Given the description of an element on the screen output the (x, y) to click on. 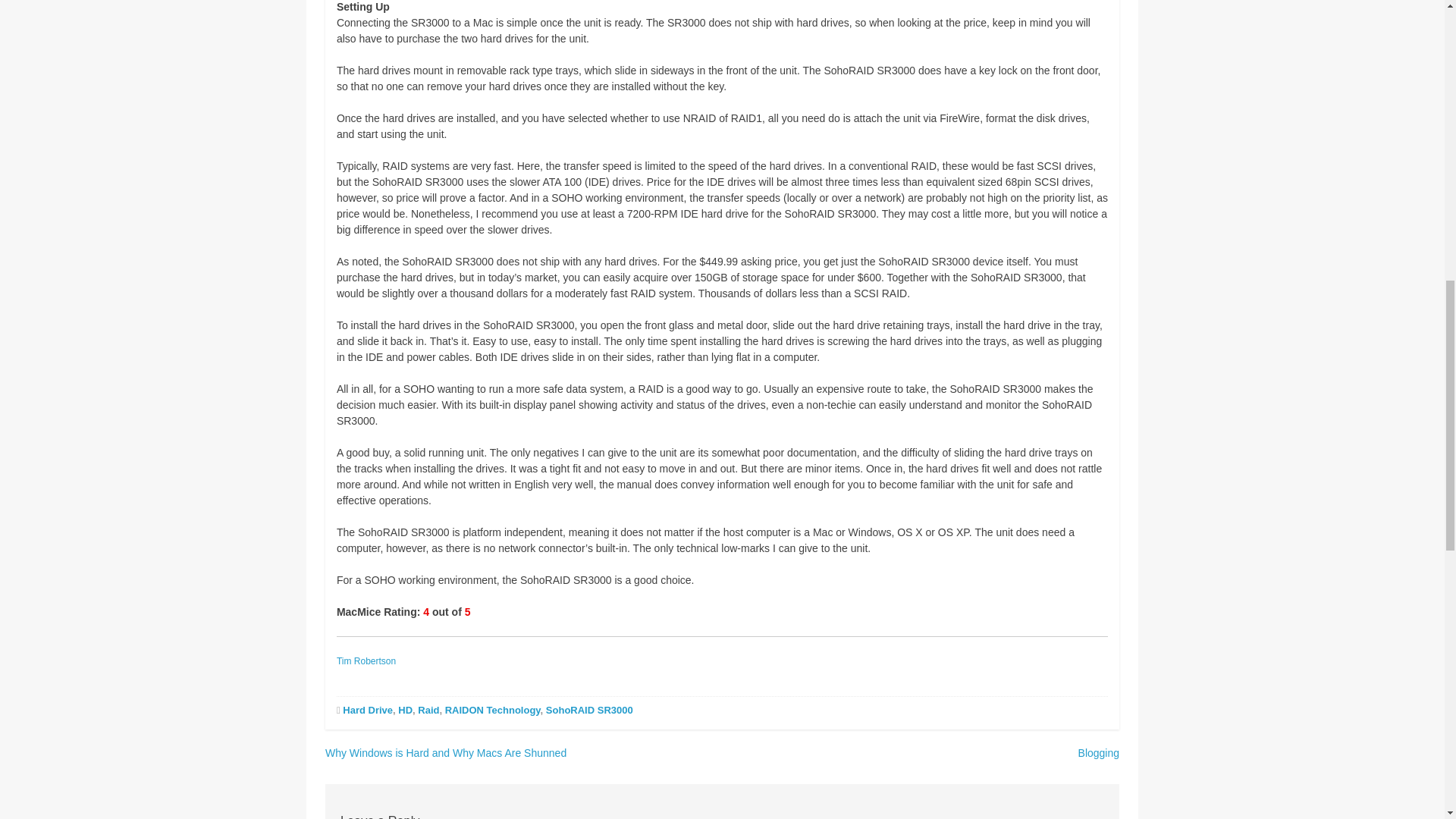
Blogging (1098, 752)
Why Windows is Hard and Why Macs Are Shunned (445, 752)
RAIDON Technology (492, 709)
Raid (428, 709)
HD (404, 709)
SohoRAID SR3000 (589, 709)
Hard Drive (367, 709)
Tim Robertson (366, 661)
